Given the description of an element on the screen output the (x, y) to click on. 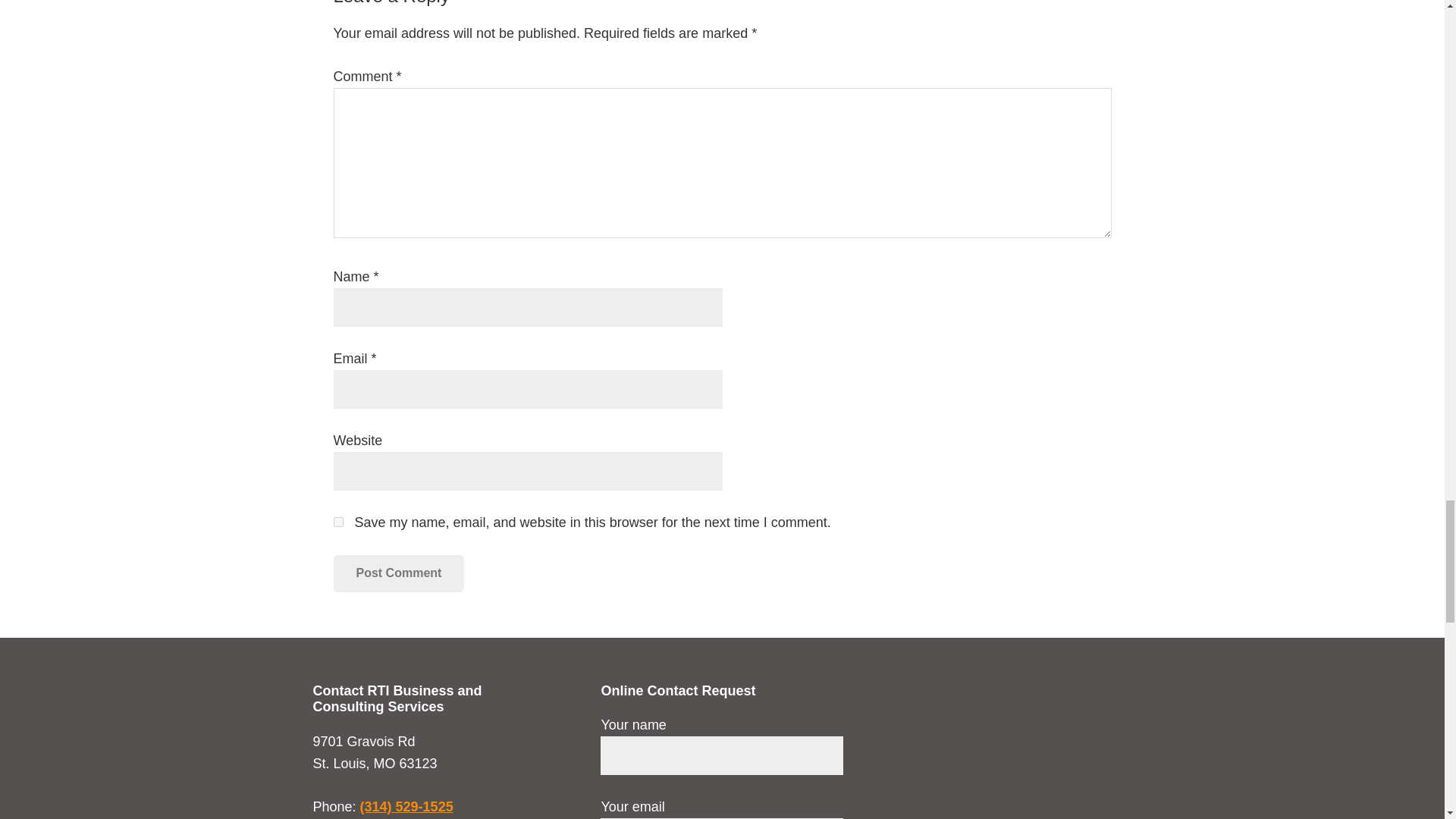
Post Comment (398, 573)
yes (338, 521)
